Given the description of an element on the screen output the (x, y) to click on. 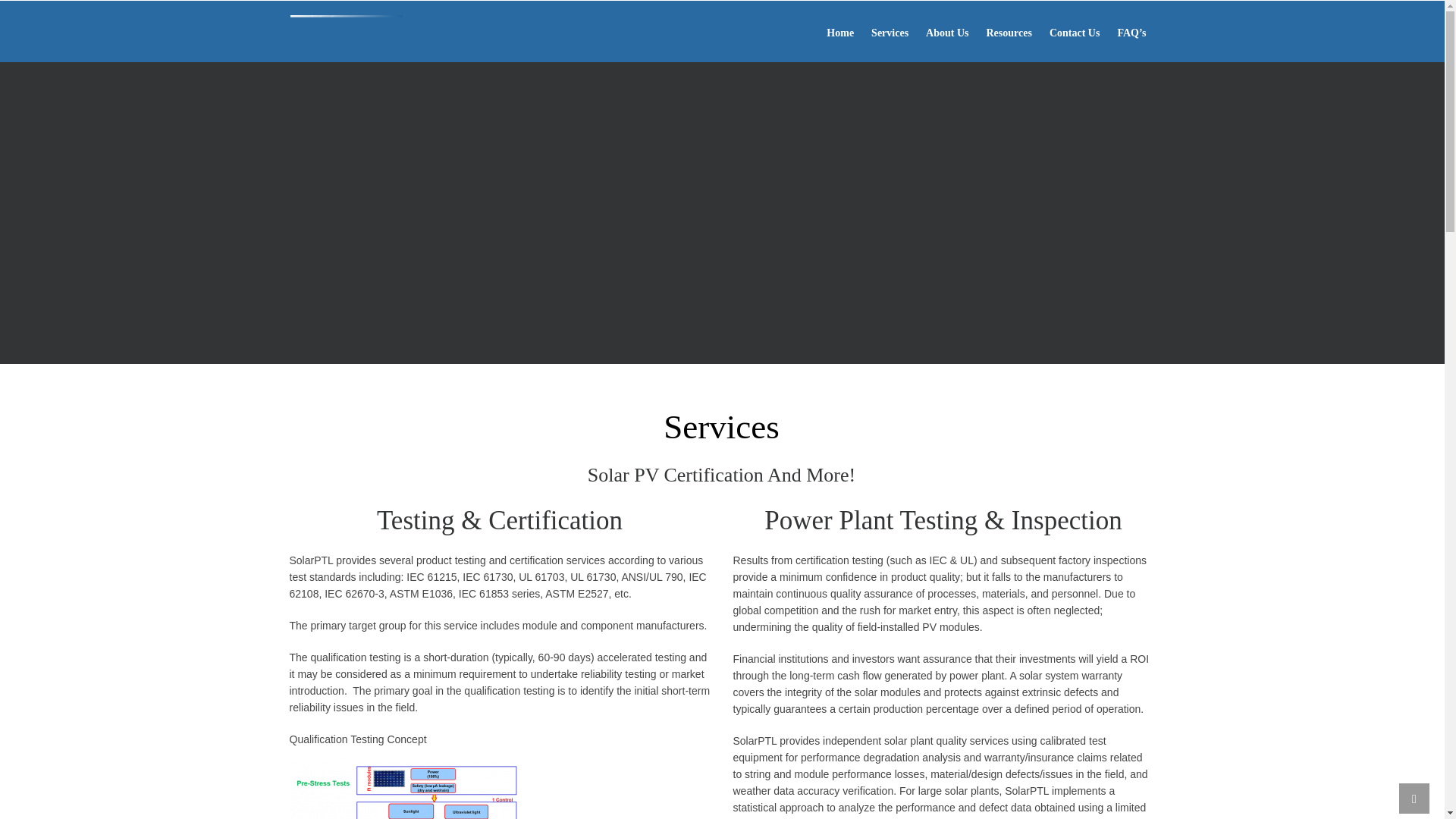
About Us (946, 30)
Contact Us (1074, 30)
Resources (1007, 30)
